Given the description of an element on the screen output the (x, y) to click on. 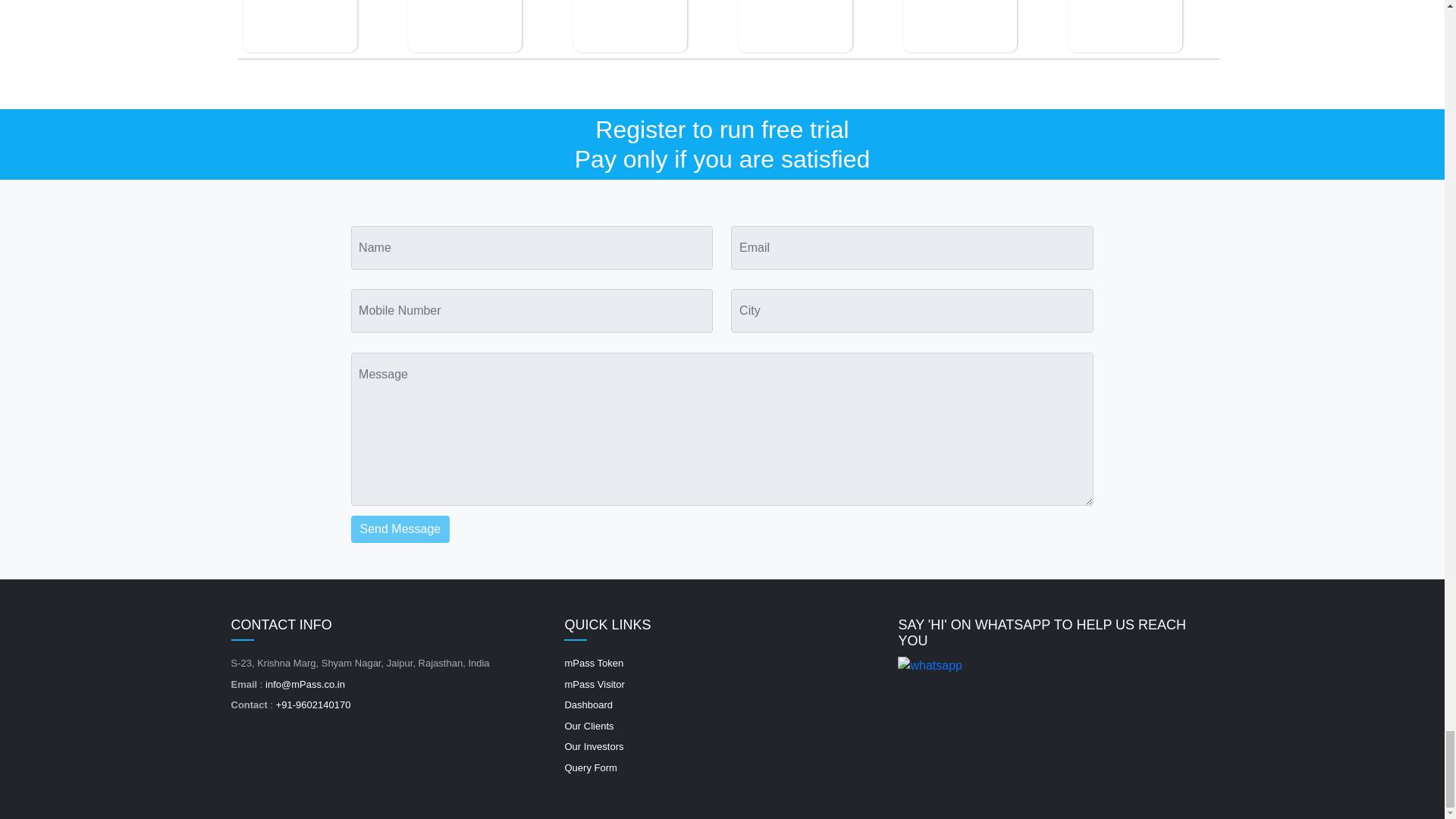
Our Investors (593, 746)
Goverment of rajasthan (299, 26)
Krishna Heart Hospital (959, 26)
Dermawave Hospital (1125, 26)
Query Form (589, 767)
Mahajan Imaging, Fortis Jaipur (464, 26)
CKS hospital (630, 26)
mPass Token (593, 663)
mPass Visitor (594, 684)
Amar Jain Hopital WHC (794, 26)
